Given the description of an element on the screen output the (x, y) to click on. 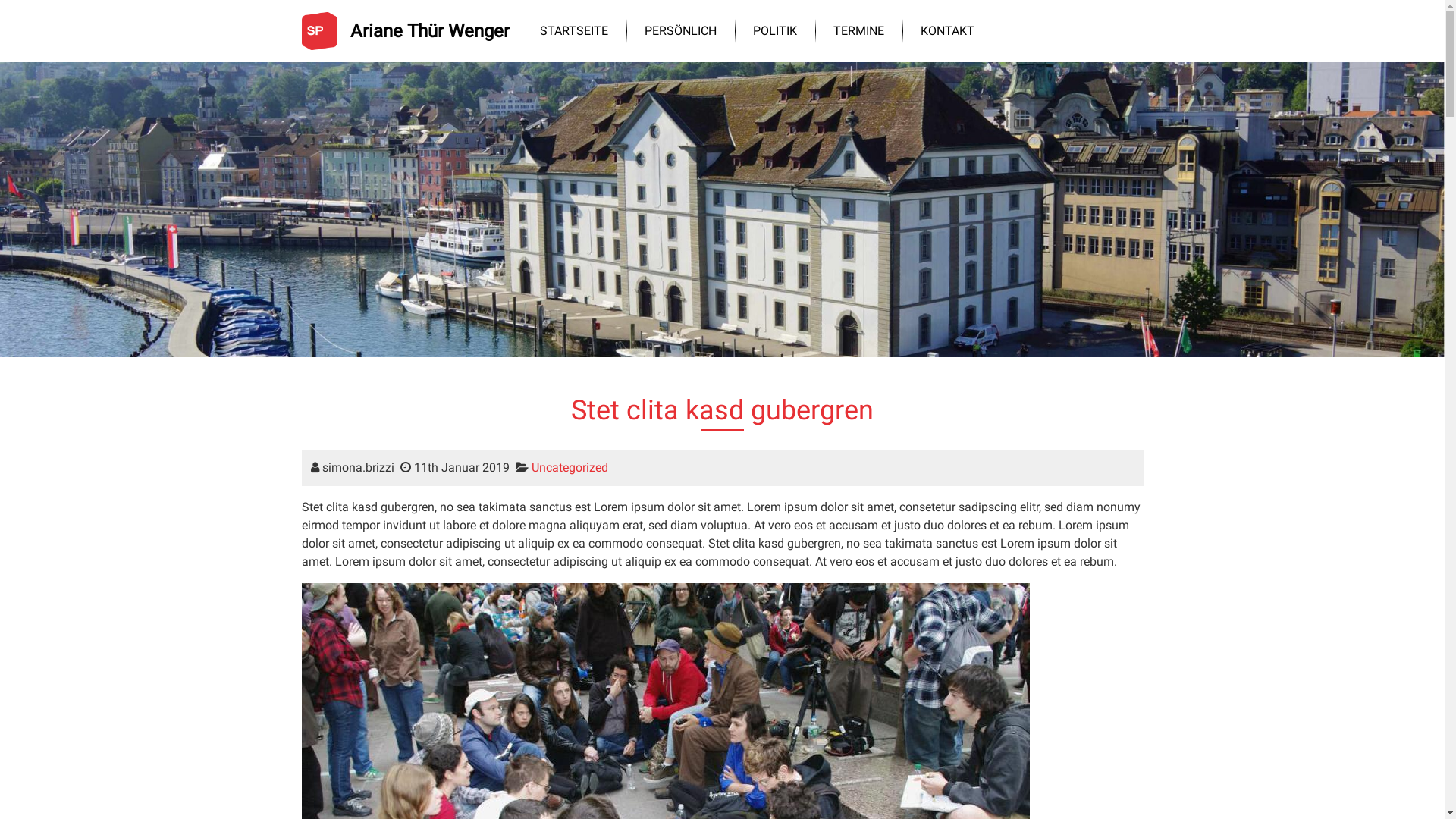
KONTAKT Element type: text (947, 30)
POLITIK Element type: text (774, 30)
STARTSEITE Element type: text (573, 30)
Uncategorized Element type: text (568, 467)
Stet clita kasd gubergren Element type: text (722, 409)
TERMINE Element type: text (858, 30)
